Given the description of an element on the screen output the (x, y) to click on. 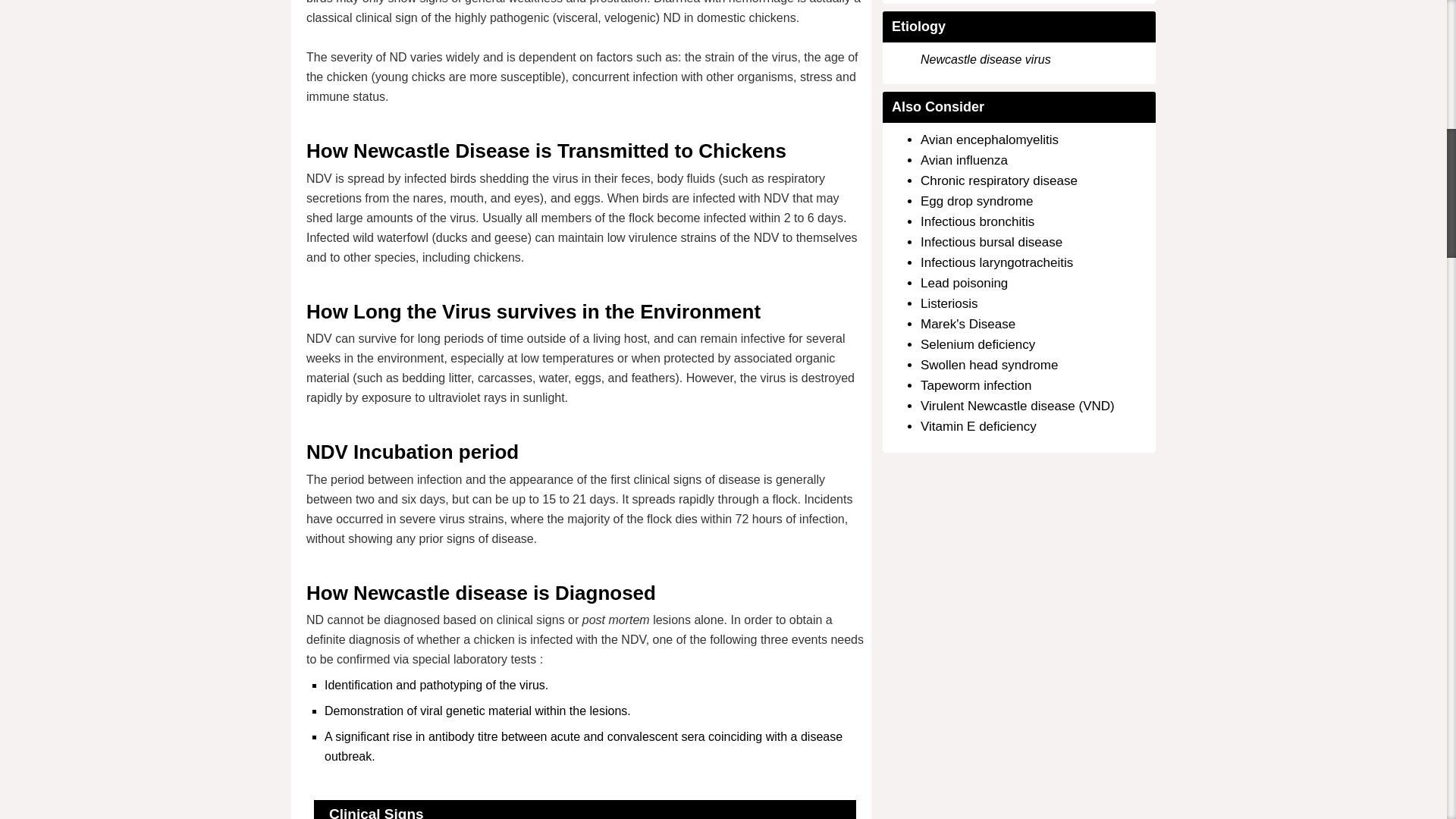
Clinical Signs (376, 812)
